Given the description of an element on the screen output the (x, y) to click on. 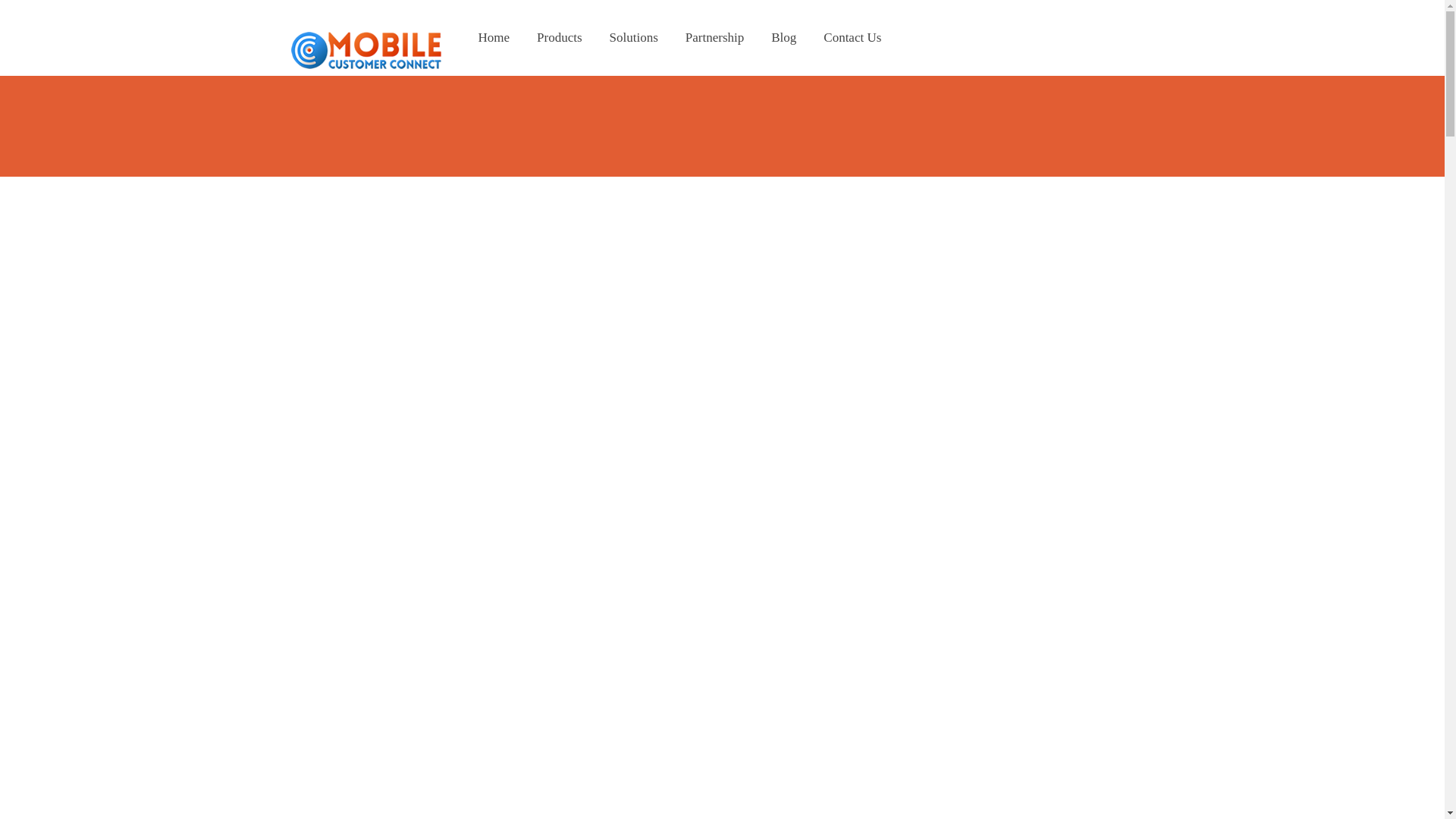
Products (558, 38)
Partnership (714, 38)
Mobile Customer Connect (365, 49)
Solutions (633, 38)
Contact Us (852, 38)
